Given the description of an element on the screen output the (x, y) to click on. 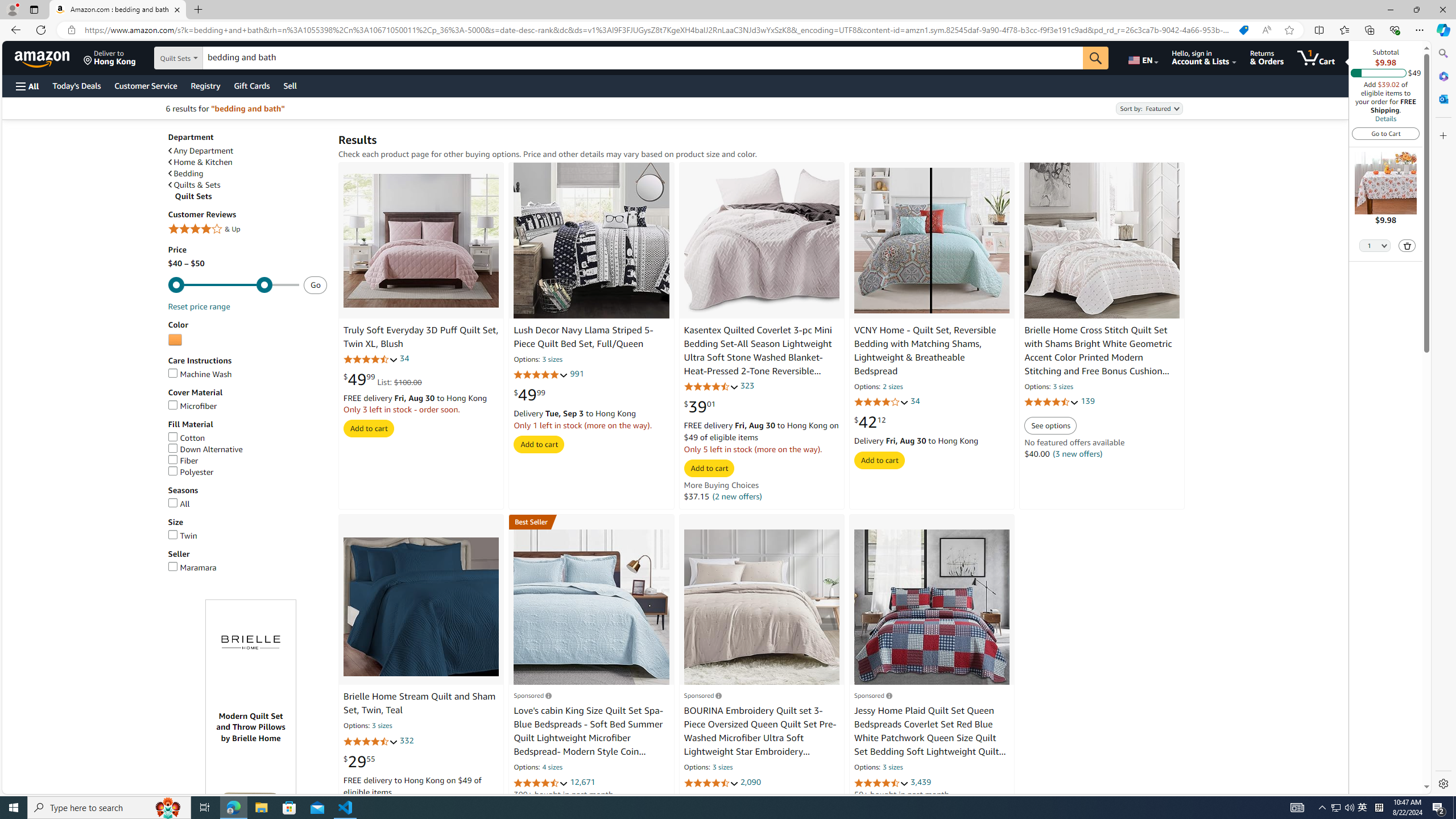
Go back to filtering menu (48, 788)
Go to Cart (1385, 133)
Delete (1407, 245)
Sort by: (1148, 108)
991 (576, 373)
Add to cart (879, 459)
Home & Kitchen (199, 162)
$29.55 (359, 761)
